Given the description of an element on the screen output the (x, y) to click on. 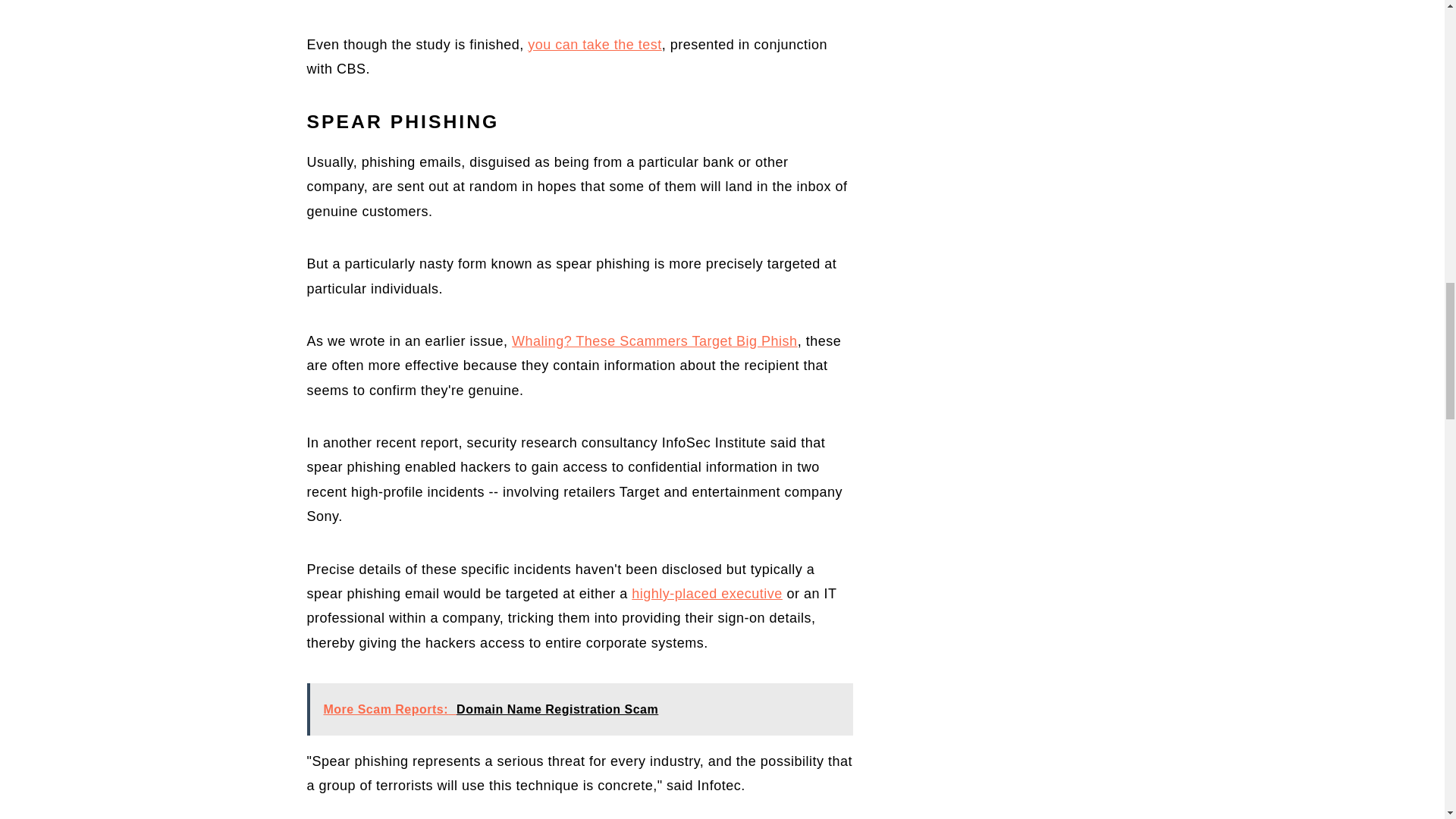
you can take the test (594, 44)
Whaling? These Scammers Target Big Phish (654, 340)
More Scam Reports:  Domain Name Registration Scam (578, 708)
highly-placed executive (707, 593)
